Given the description of an element on the screen output the (x, y) to click on. 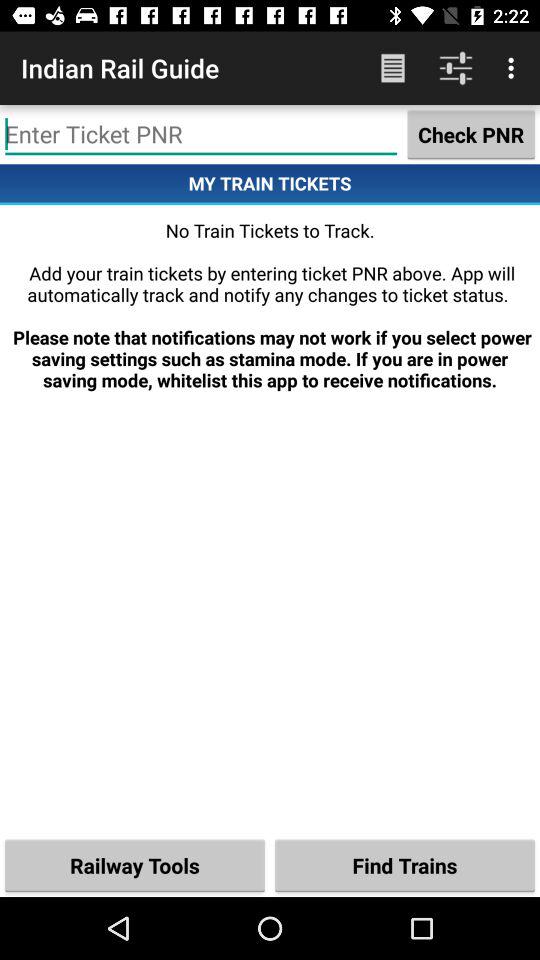
flip until railway tools icon (135, 864)
